Given the description of an element on the screen output the (x, y) to click on. 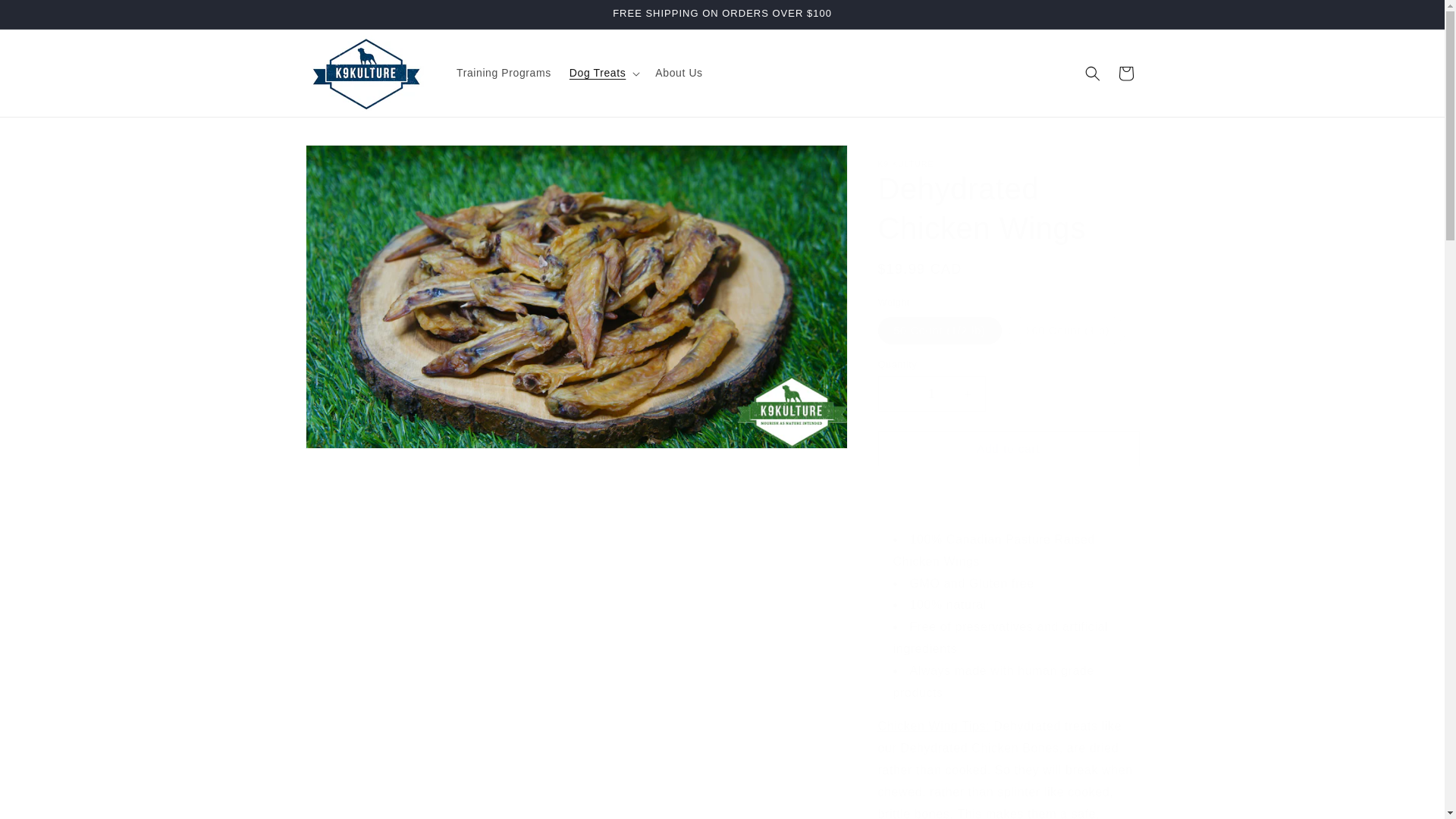
Increase quantity for Dehydrated Chicken Wings (967, 393)
Decrease quantity for Dehydrated Chicken Wings (894, 393)
Cart (1124, 72)
Add to cart (1008, 448)
Skip to content (45, 17)
1 (931, 393)
Training Programs (503, 72)
Skip to product information (350, 161)
About Us (678, 72)
